Given the description of an element on the screen output the (x, y) to click on. 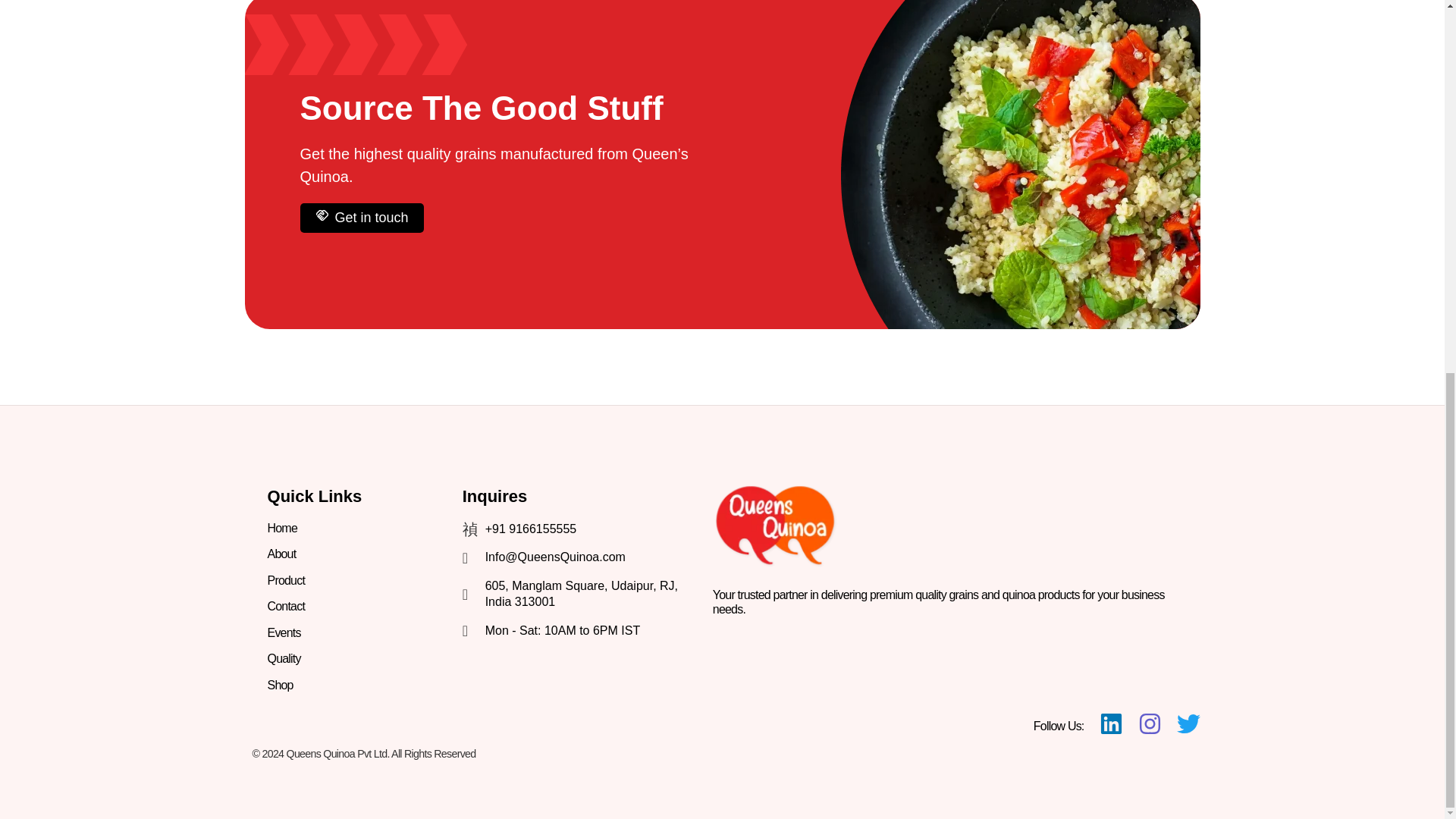
Get in touch (361, 217)
Quality (284, 658)
Product (286, 581)
Contact (286, 606)
Home (282, 528)
Events (284, 632)
About (282, 554)
